Given the description of an element on the screen output the (x, y) to click on. 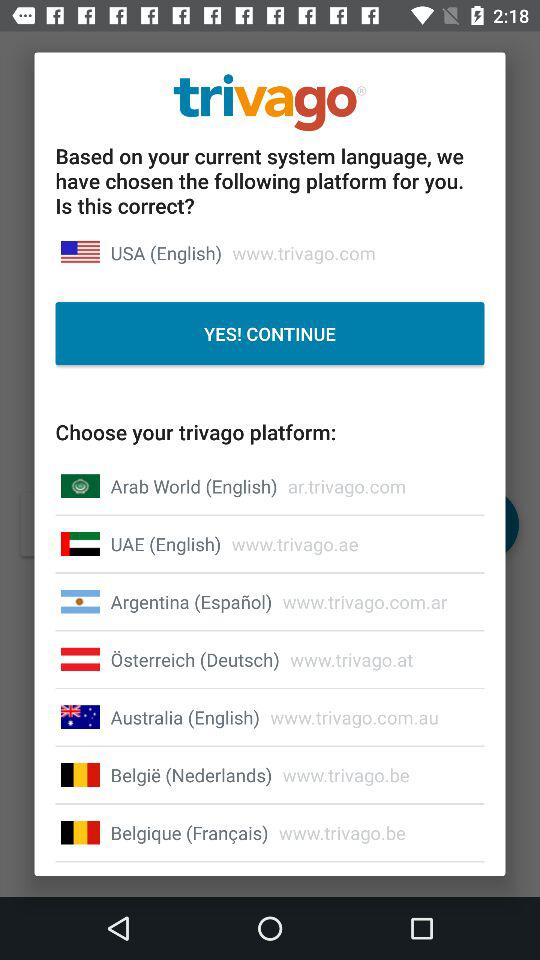
select icon to the left of the www.trivago.com icon (166, 252)
